Given the description of an element on the screen output the (x, y) to click on. 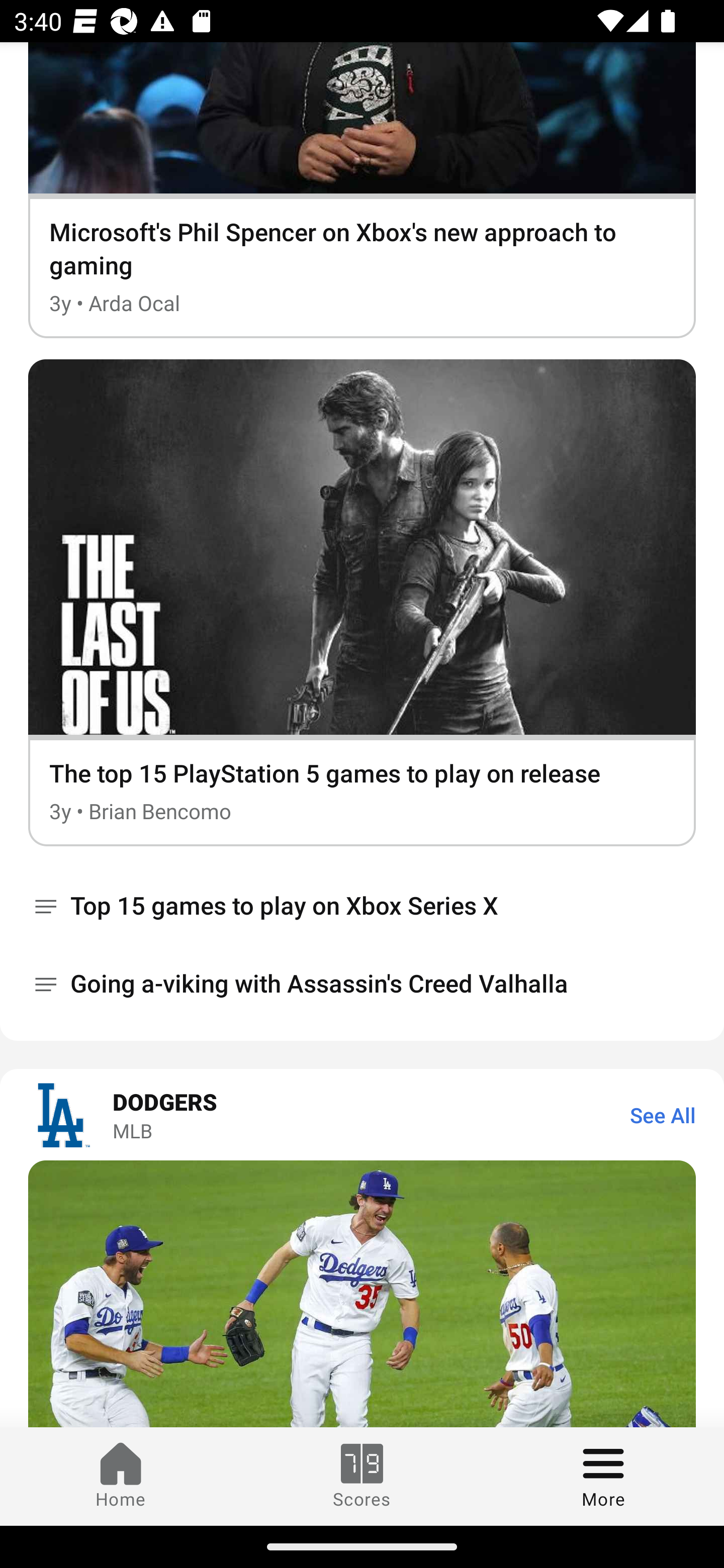
 Top 15 games to play on Xbox Series X (362, 906)
 Going a-viking with Assassin's Creed Valhalla (362, 984)
DODGERS MLB See All (362, 1114)
Home (120, 1475)
Scores (361, 1475)
